Given the description of an element on the screen output the (x, y) to click on. 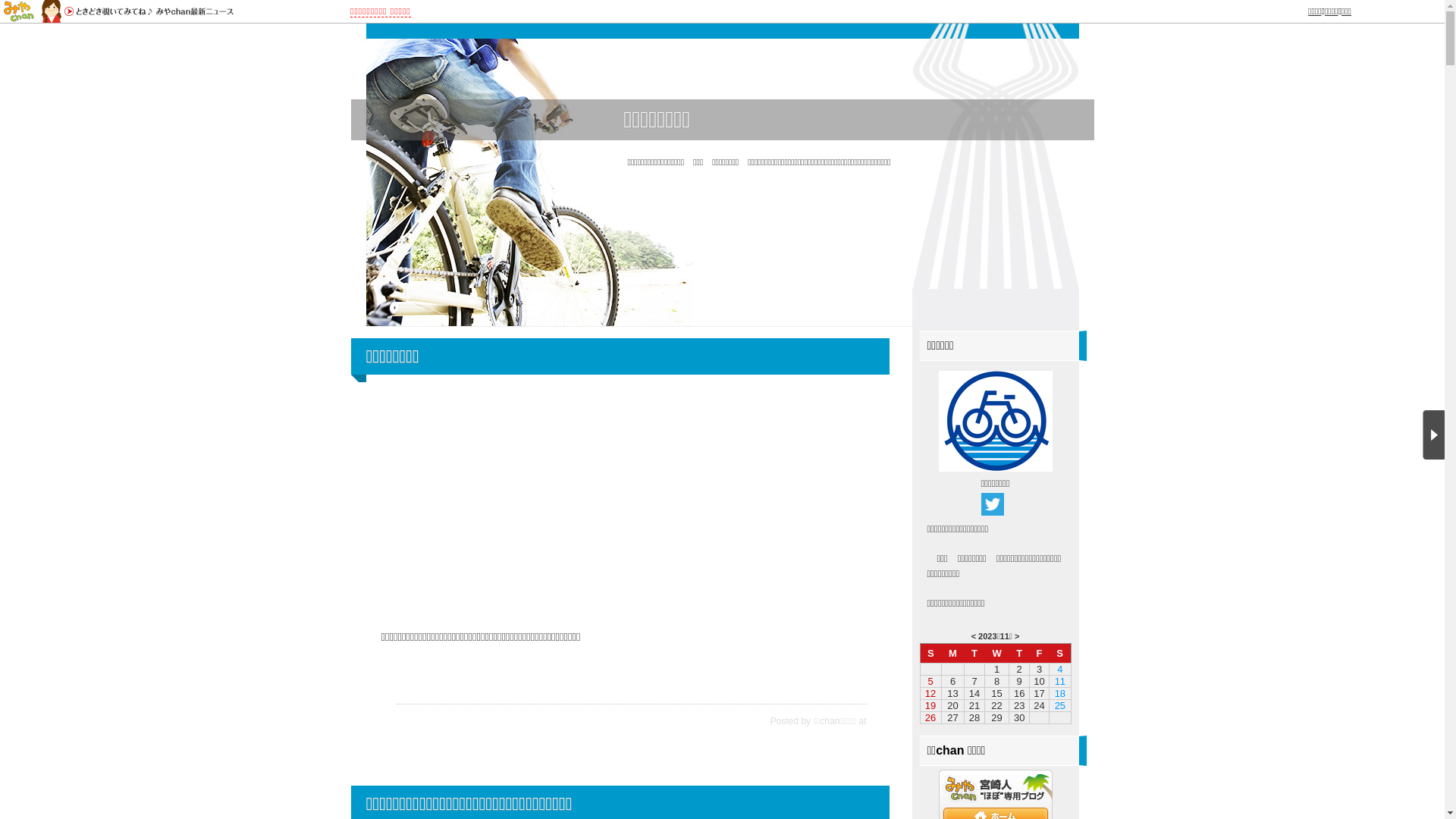
11 Element type: text (1004, 635)
Advertisement Element type: hover (626, 499)
Twitter Element type: hover (992, 503)
< Element type: text (973, 635)
